Given the description of an element on the screen output the (x, y) to click on. 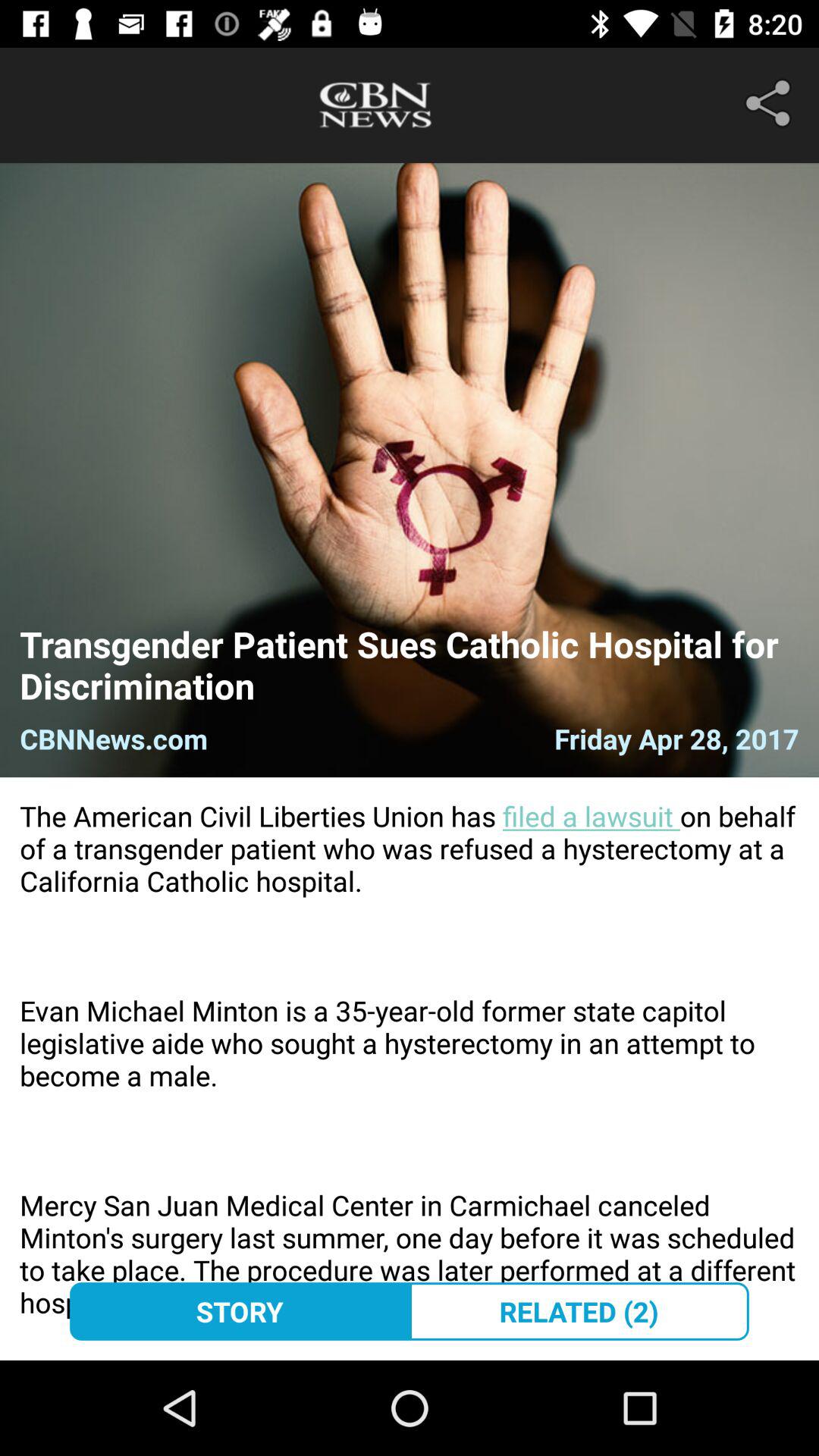
open story (239, 1311)
